Given the description of an element on the screen output the (x, y) to click on. 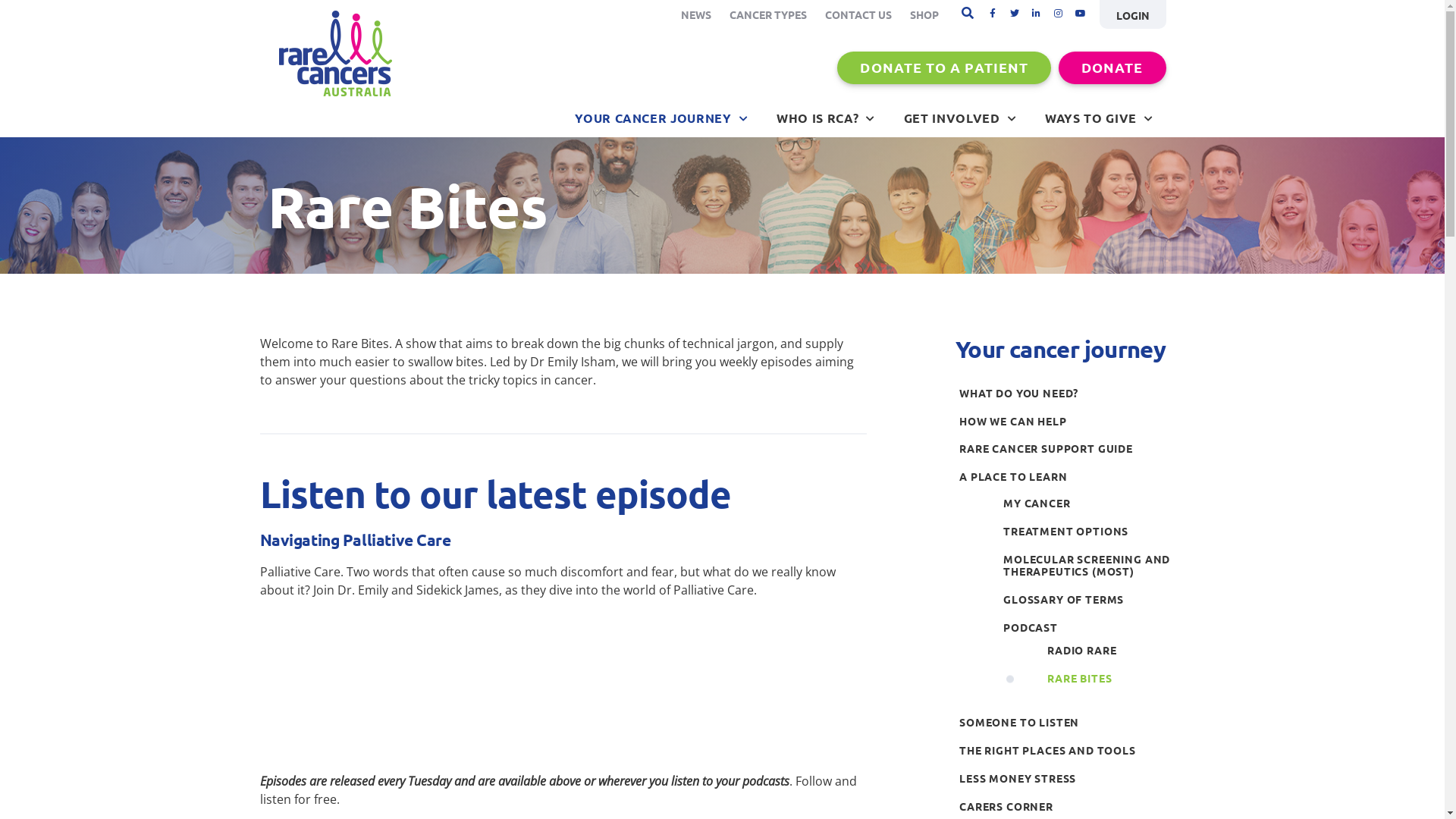
CANCER TYPES Element type: text (767, 14)
MOLECULAR SCREENING AND THERAPEUTICS (MOST) Element type: text (1088, 565)
NEWS Element type: text (695, 14)
PODCAST Element type: text (1088, 627)
DONATE Element type: text (1111, 67)
LOGIN Element type: text (1132, 14)
SHOP Element type: text (924, 14)
WHO IS RCA? Element type: text (825, 118)
Your cancer journey Element type: text (1060, 349)
MY CANCER Element type: text (1088, 502)
RARE CANCER SUPPORT GUIDE Element type: text (1066, 448)
THE RIGHT PLACES AND TOOLS Element type: text (1066, 750)
GET INVOLVED Element type: text (960, 118)
CARERS CORNER Element type: text (1066, 806)
YOUR CANCER JOURNEY Element type: text (660, 118)
DONATE TO A PATIENT Element type: text (944, 67)
WAYS TO GIVE Element type: text (1098, 118)
SOMEONE TO LISTEN Element type: text (1066, 722)
TREATMENT OPTIONS Element type: text (1088, 530)
RARE BITES Element type: text (1110, 678)
A PLACE TO LEARN Element type: text (1066, 476)
HOW WE CAN HELP Element type: text (1066, 421)
WHAT DO YOU NEED? Element type: text (1066, 392)
RADIO RARE Element type: text (1110, 650)
LESS MONEY STRESS Element type: text (1066, 778)
CONTACT US Element type: text (858, 14)
GLOSSARY OF TERMS Element type: text (1088, 599)
